Given the description of an element on the screen output the (x, y) to click on. 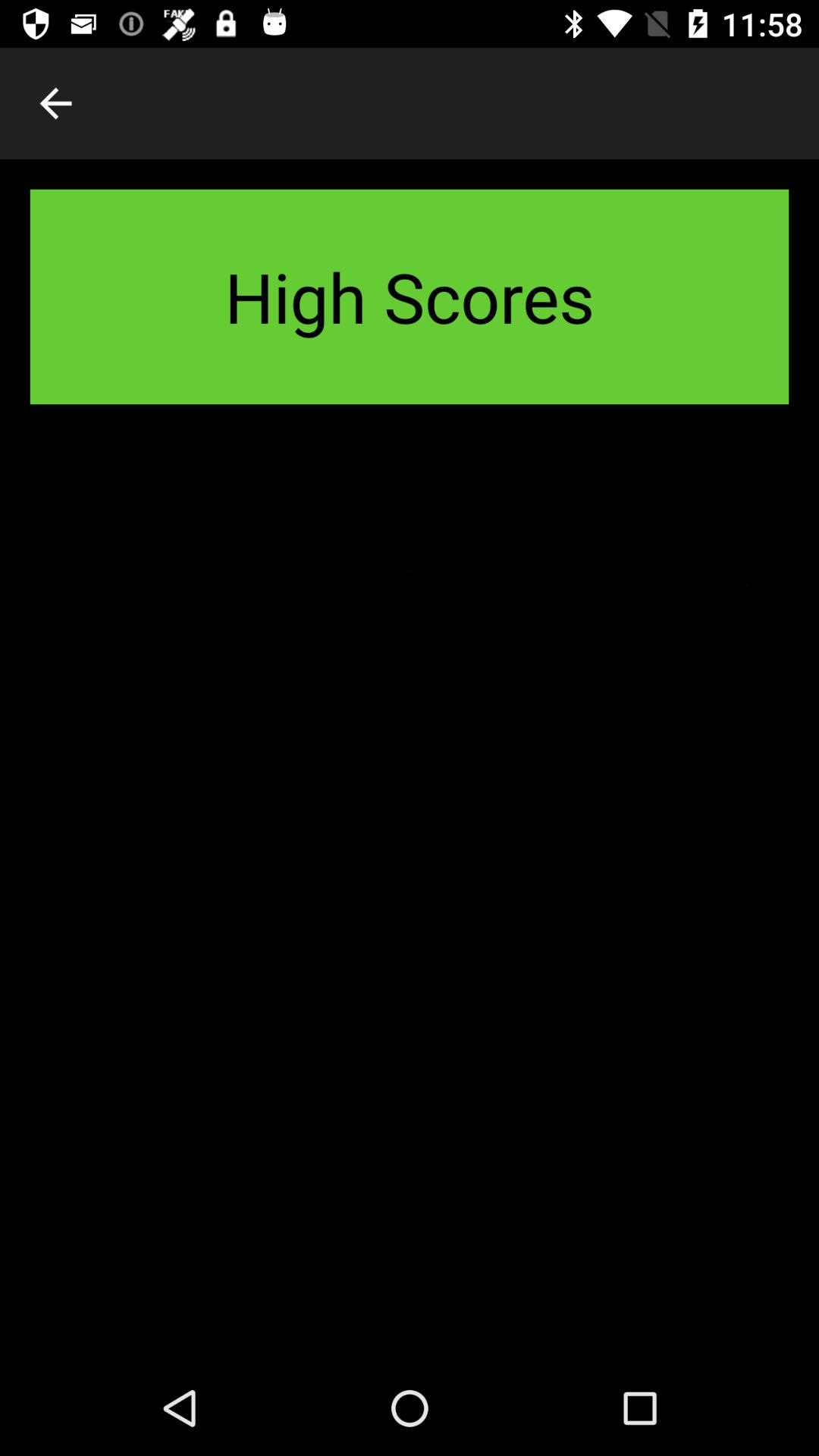
click item above the high scores icon (55, 103)
